Given the description of an element on the screen output the (x, y) to click on. 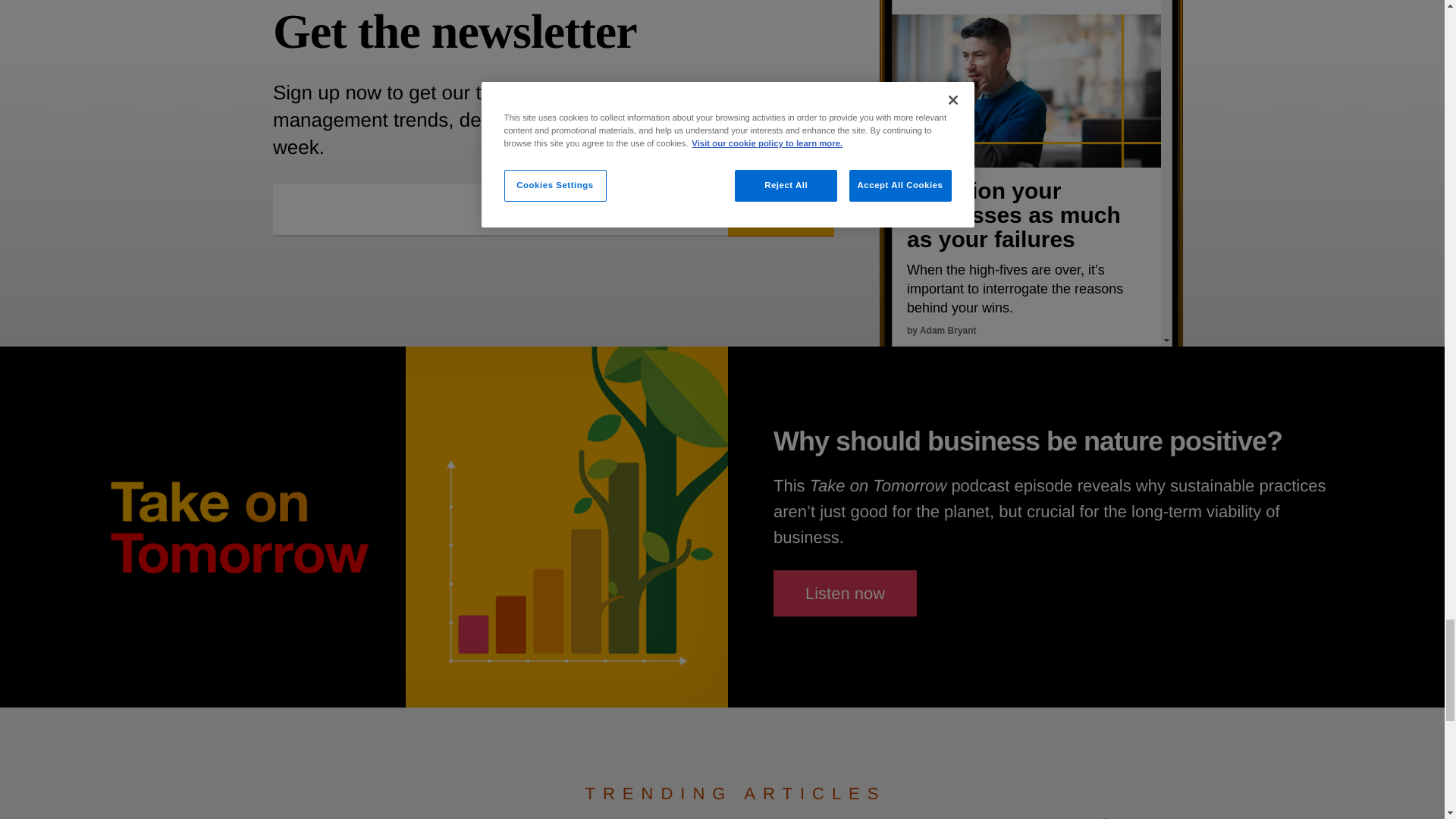
Sign up (781, 209)
